Given the description of an element on the screen output the (x, y) to click on. 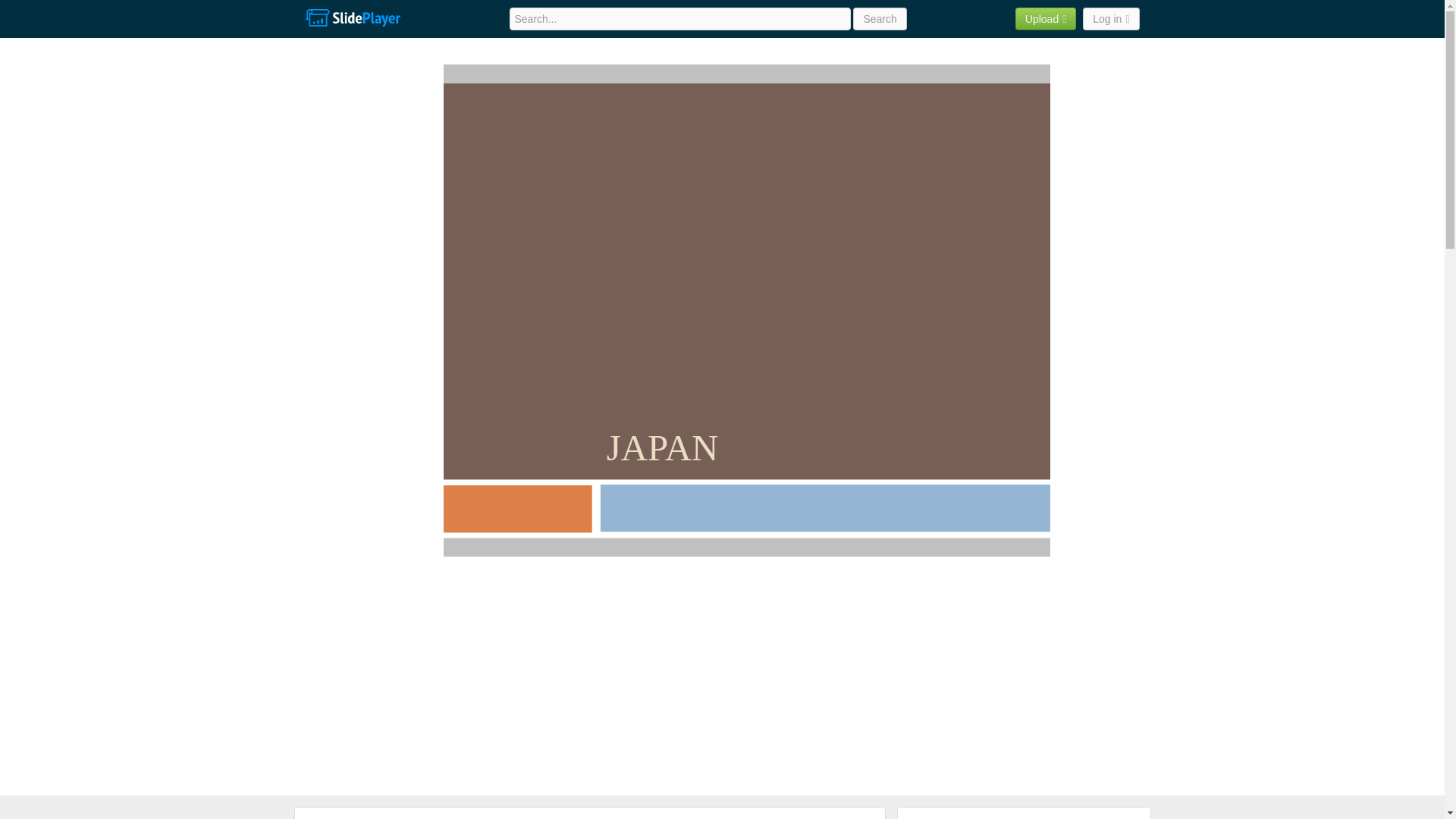
Log in (1110, 18)
Search (879, 18)
SlidePlayer (352, 18)
Upload (1045, 18)
